Given the description of an element on the screen output the (x, y) to click on. 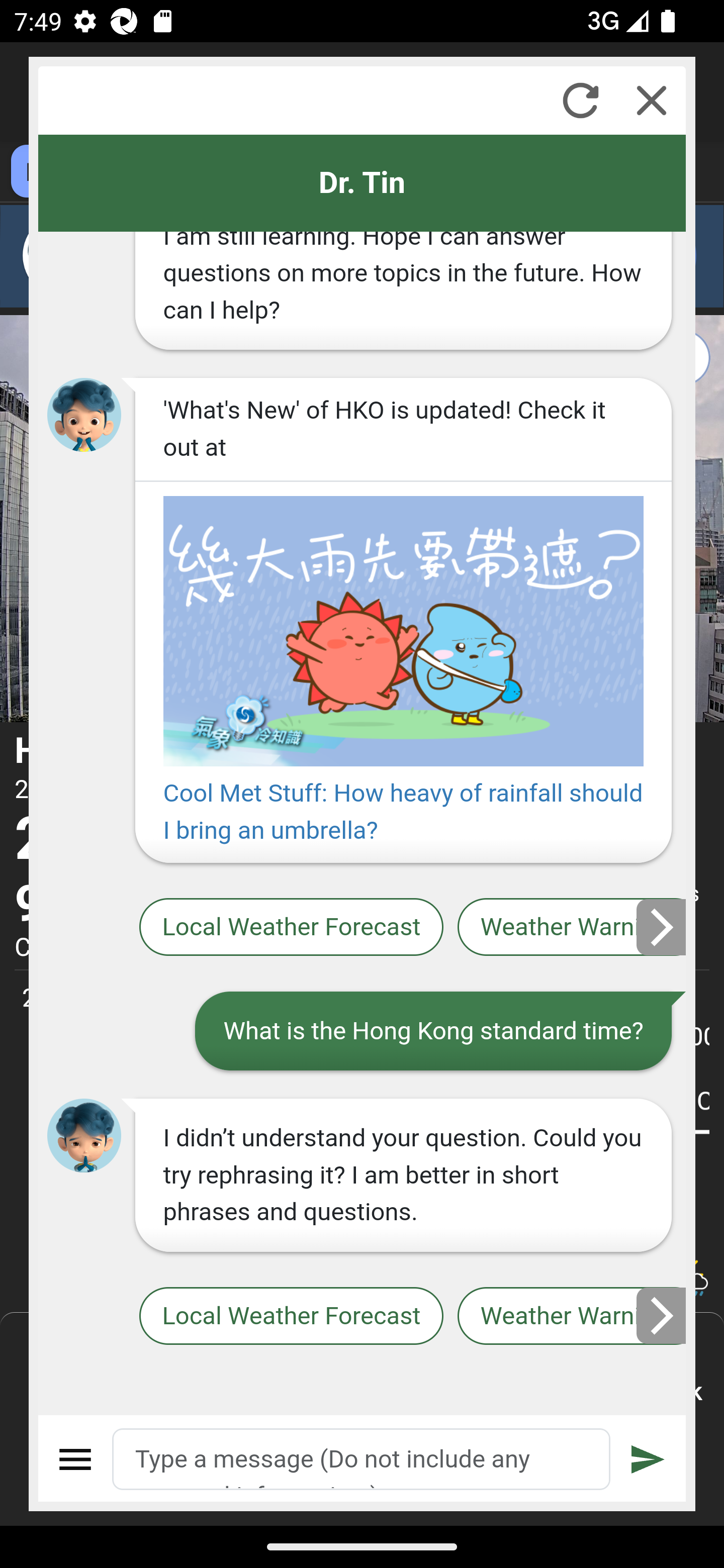
Refresh (580, 100)
Close (651, 100)
Local Weather Forecast (291, 928)
Weather Warnings (571, 928)
Next slide (661, 927)
Local Weather Forecast (291, 1315)
Weather Warnings (571, 1315)
Next slide (661, 1316)
Menu (75, 1458)
Submit (648, 1458)
